Given the description of an element on the screen output the (x, y) to click on. 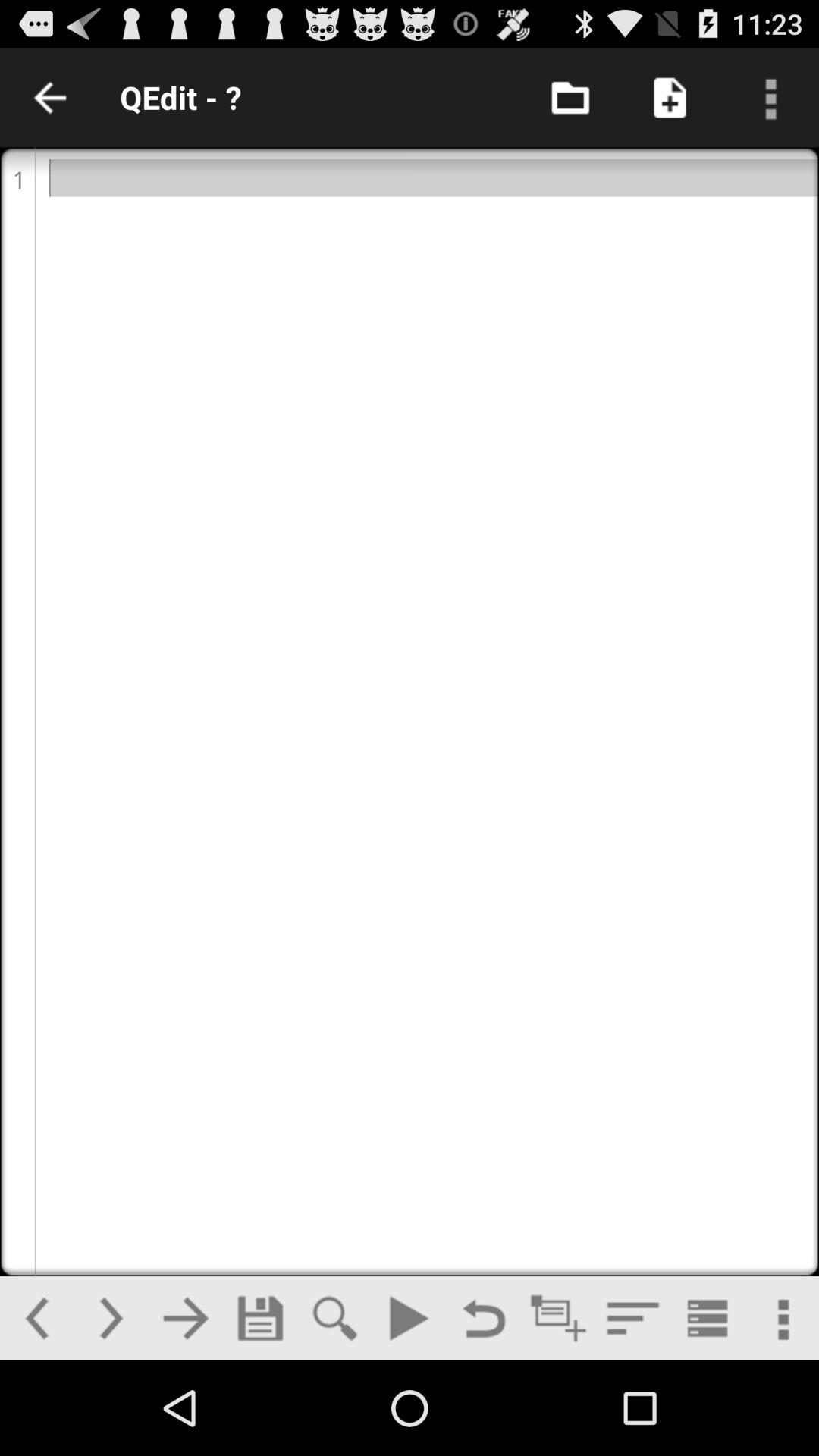
open file (569, 97)
